Given the description of an element on the screen output the (x, y) to click on. 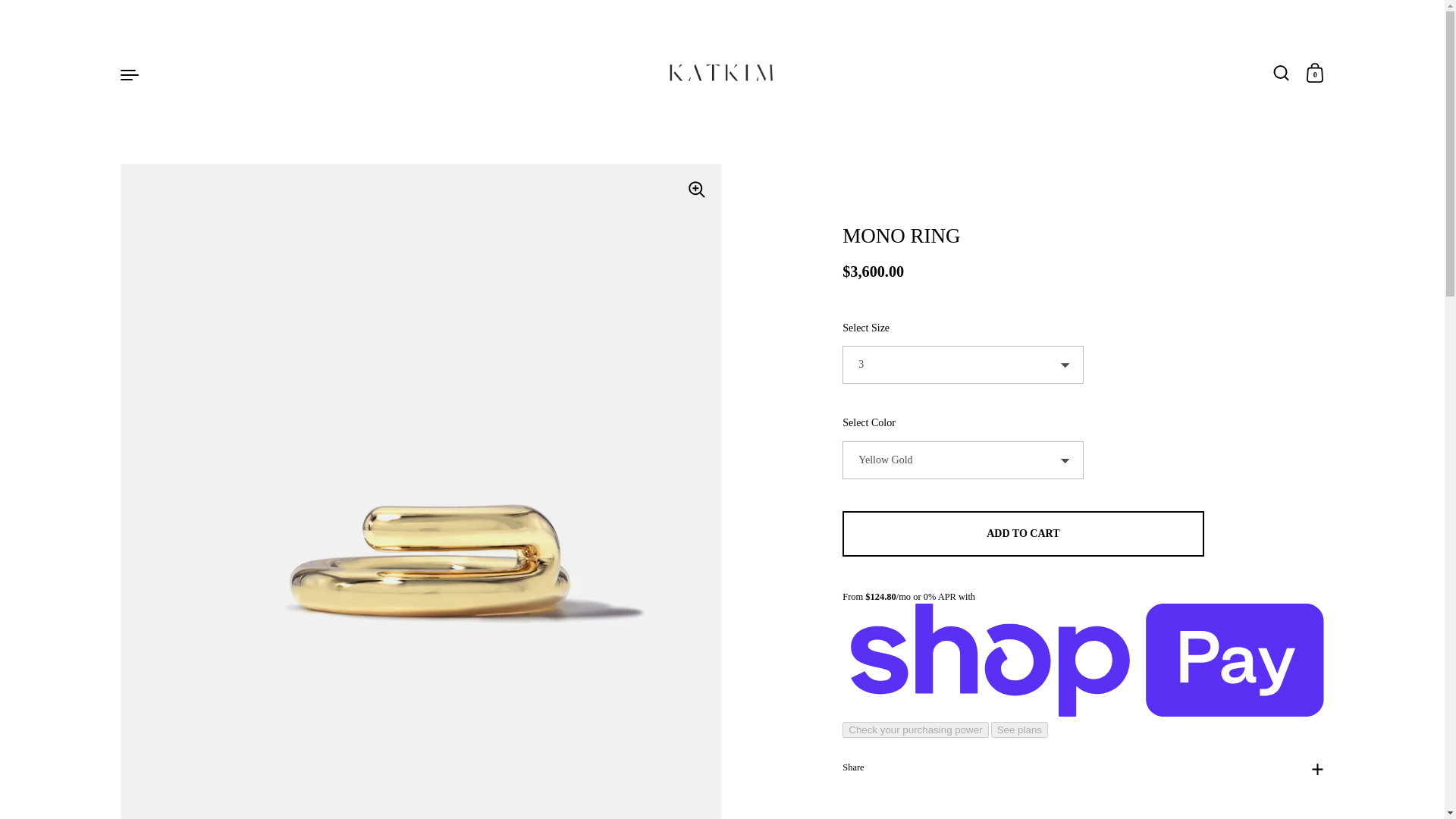
0 (1315, 73)
KATKIM (721, 73)
